Given the description of an element on the screen output the (x, y) to click on. 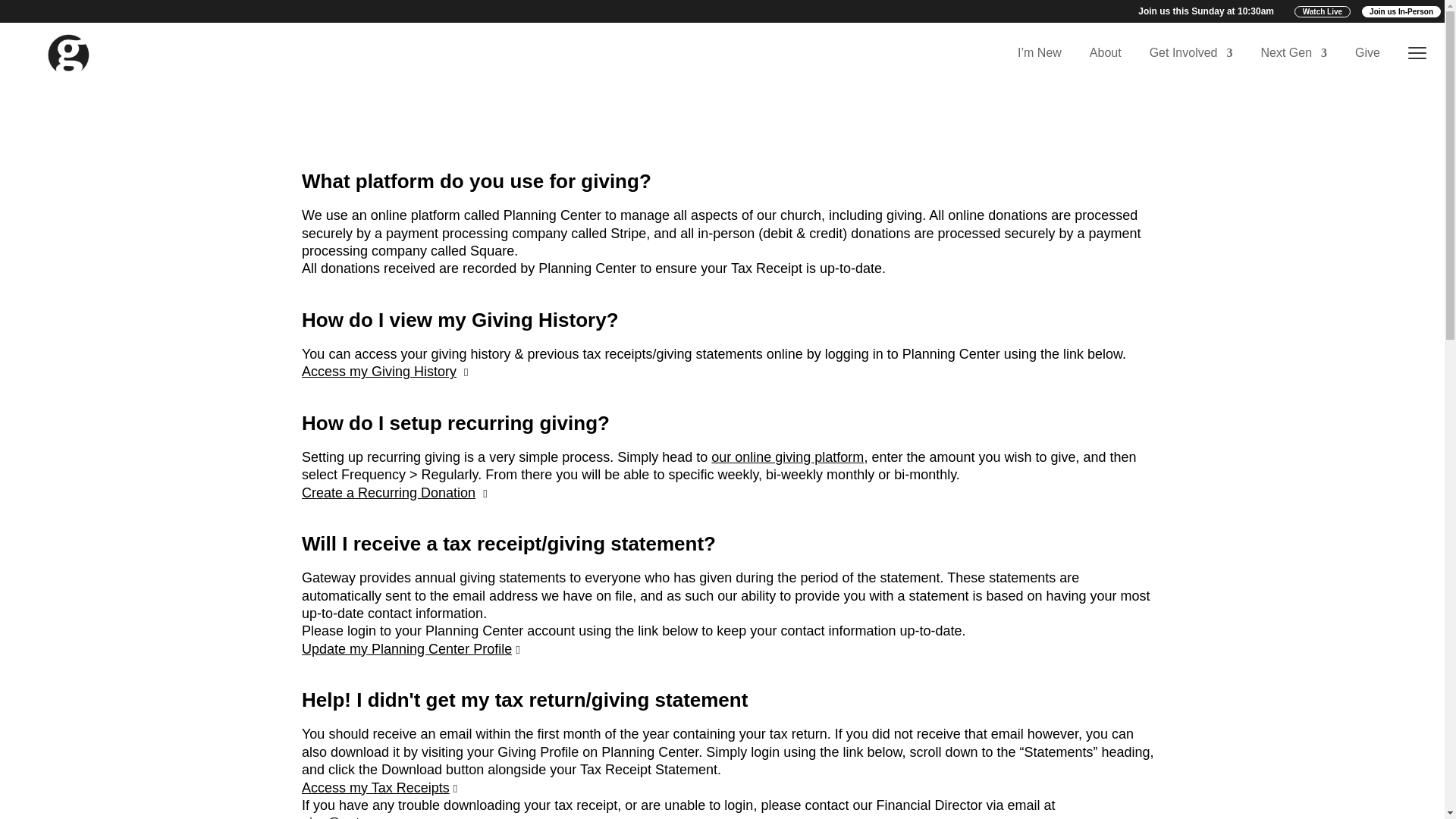
Gateway Logo Black (67, 53)
Get Involved (1185, 52)
Search (24, 13)
Join us In-Person (1401, 11)
Watch Live (1322, 11)
